Given the description of an element on the screen output the (x, y) to click on. 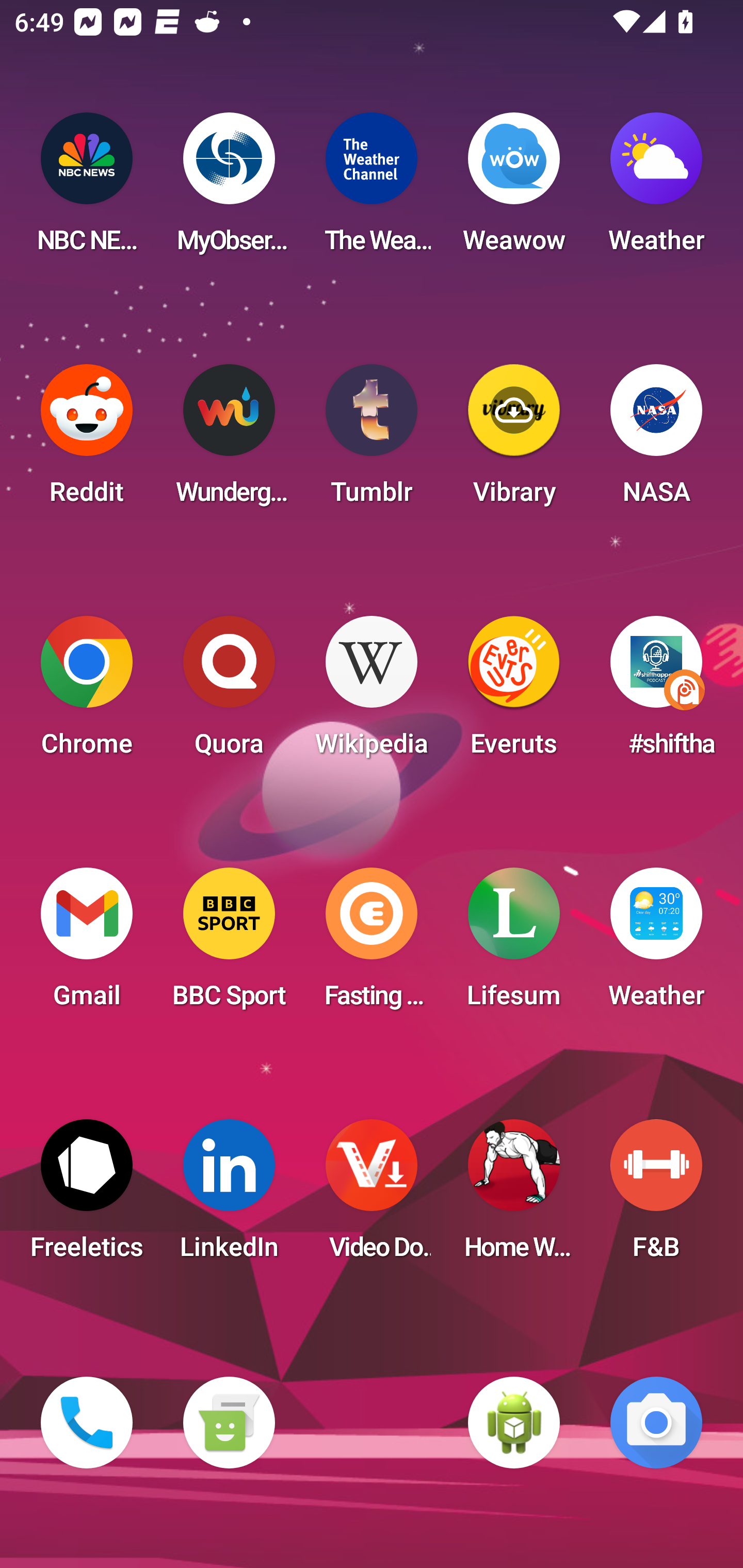
NBC NEWS (86, 188)
MyObservatory (228, 188)
The Weather Channel (371, 188)
Weawow (513, 188)
Weather (656, 188)
Reddit (86, 440)
Wunderground (228, 440)
Tumblr (371, 440)
Vibrary (513, 440)
NASA (656, 440)
Chrome (86, 692)
Quora (228, 692)
Wikipedia (371, 692)
Everuts (513, 692)
#shifthappens in the Digital Workplace Podcast (656, 692)
Gmail (86, 943)
BBC Sport (228, 943)
Fasting Coach (371, 943)
Lifesum (513, 943)
Weather (656, 943)
Freeletics (86, 1195)
LinkedIn (228, 1195)
Video Downloader & Ace Player (371, 1195)
Home Workout (513, 1195)
F&B (656, 1195)
Phone (86, 1422)
Messaging (228, 1422)
WebView Browser Tester (513, 1422)
Camera (656, 1422)
